Given the description of an element on the screen output the (x, y) to click on. 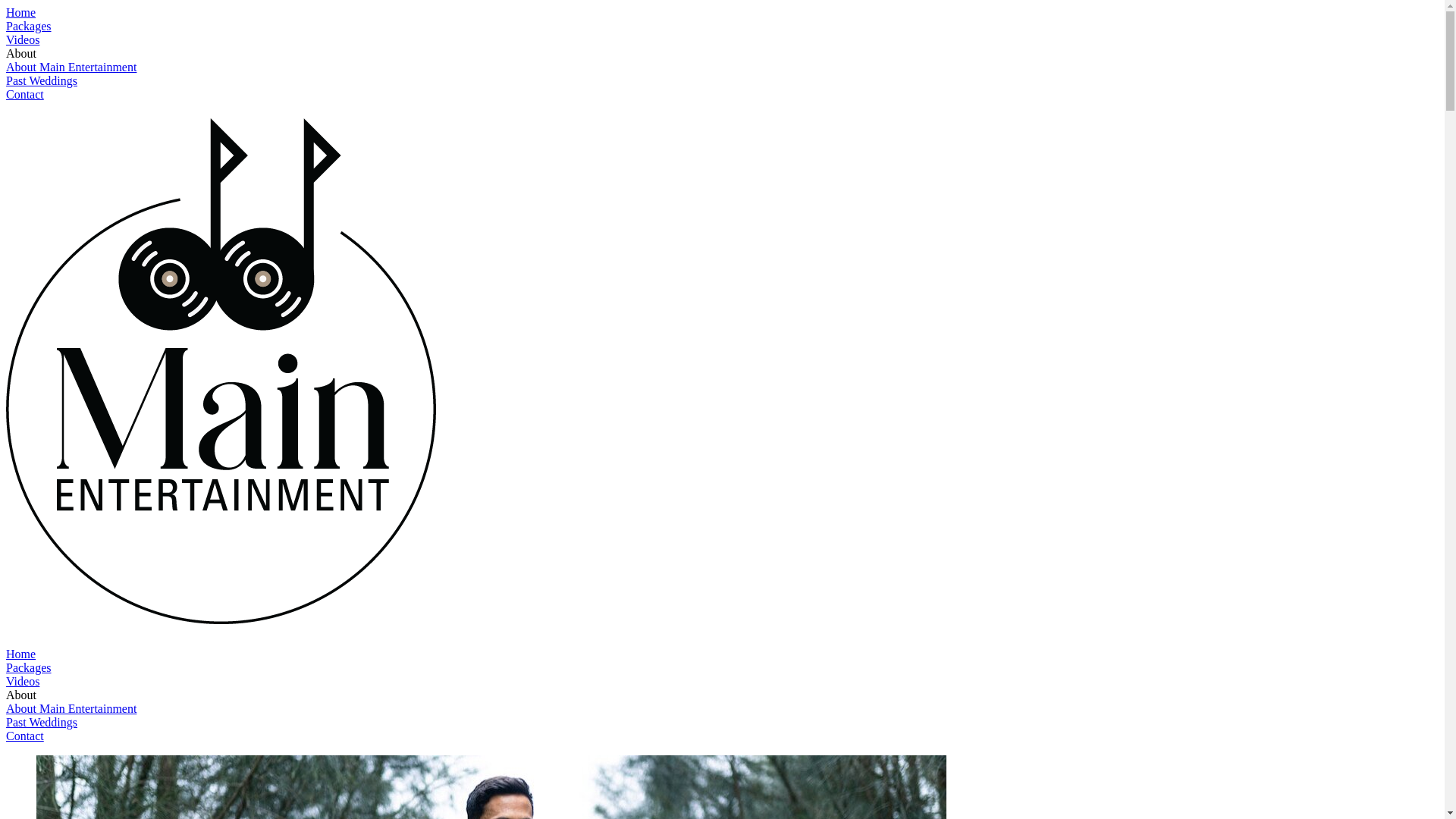
Videos Element type: text (22, 39)
Contact Element type: text (24, 93)
Home Element type: text (20, 653)
Contact Element type: text (24, 735)
Videos Element type: text (22, 680)
Home Element type: text (20, 12)
About Main Entertainment Element type: text (71, 66)
Packages Element type: text (28, 667)
About Main Entertainment Element type: text (71, 708)
Packages Element type: text (28, 25)
Past Weddings Element type: text (41, 721)
Past Weddings Element type: text (41, 80)
